Given the description of an element on the screen output the (x, y) to click on. 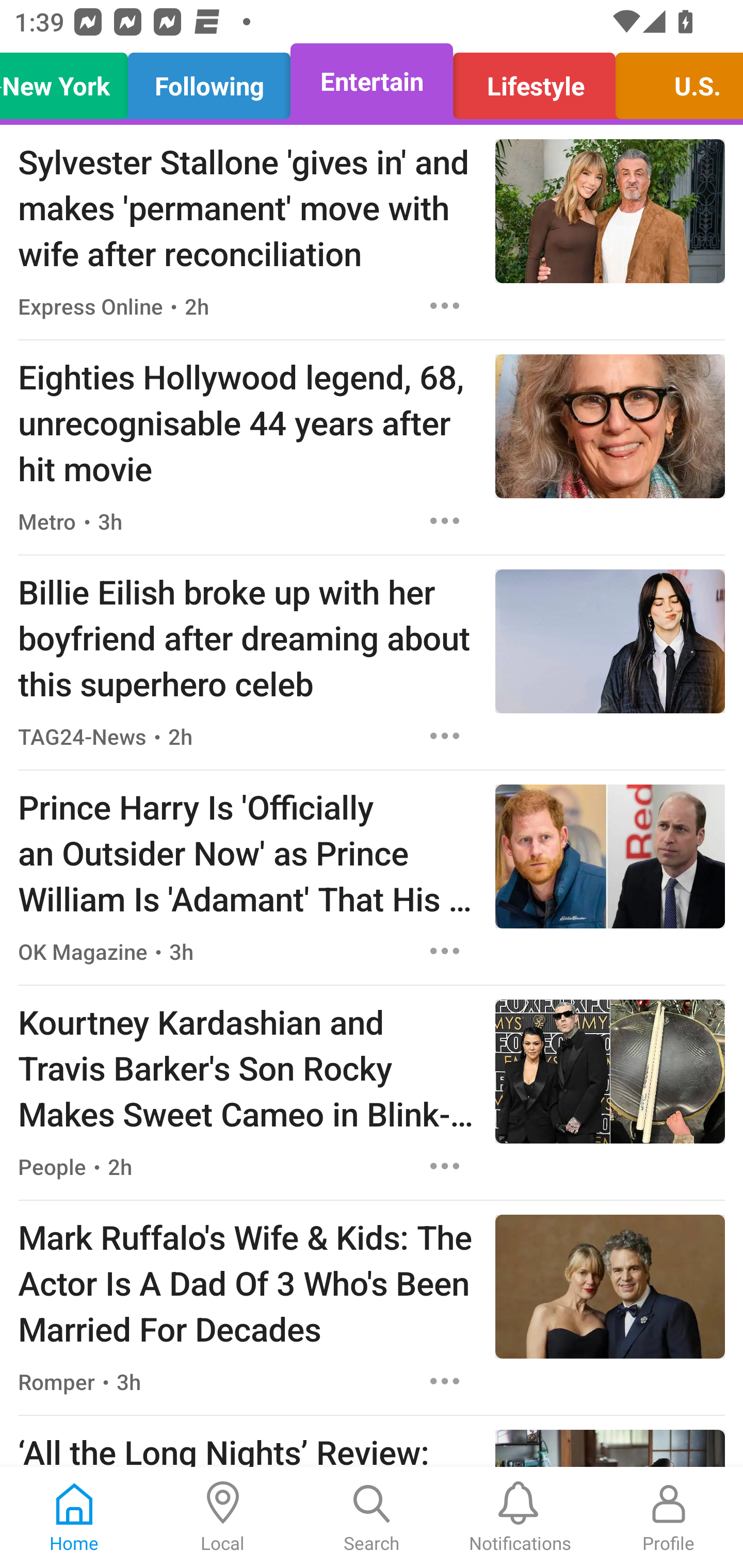
➣New York (69, 81)
Following (209, 81)
Entertain (371, 81)
Lifestyle (534, 81)
U.S. (673, 81)
Options (444, 305)
Options (444, 520)
Options (444, 736)
Options (444, 950)
Options (444, 1166)
Options (444, 1381)
Local (222, 1517)
Search (371, 1517)
Notifications (519, 1517)
Profile (668, 1517)
